Given the description of an element on the screen output the (x, y) to click on. 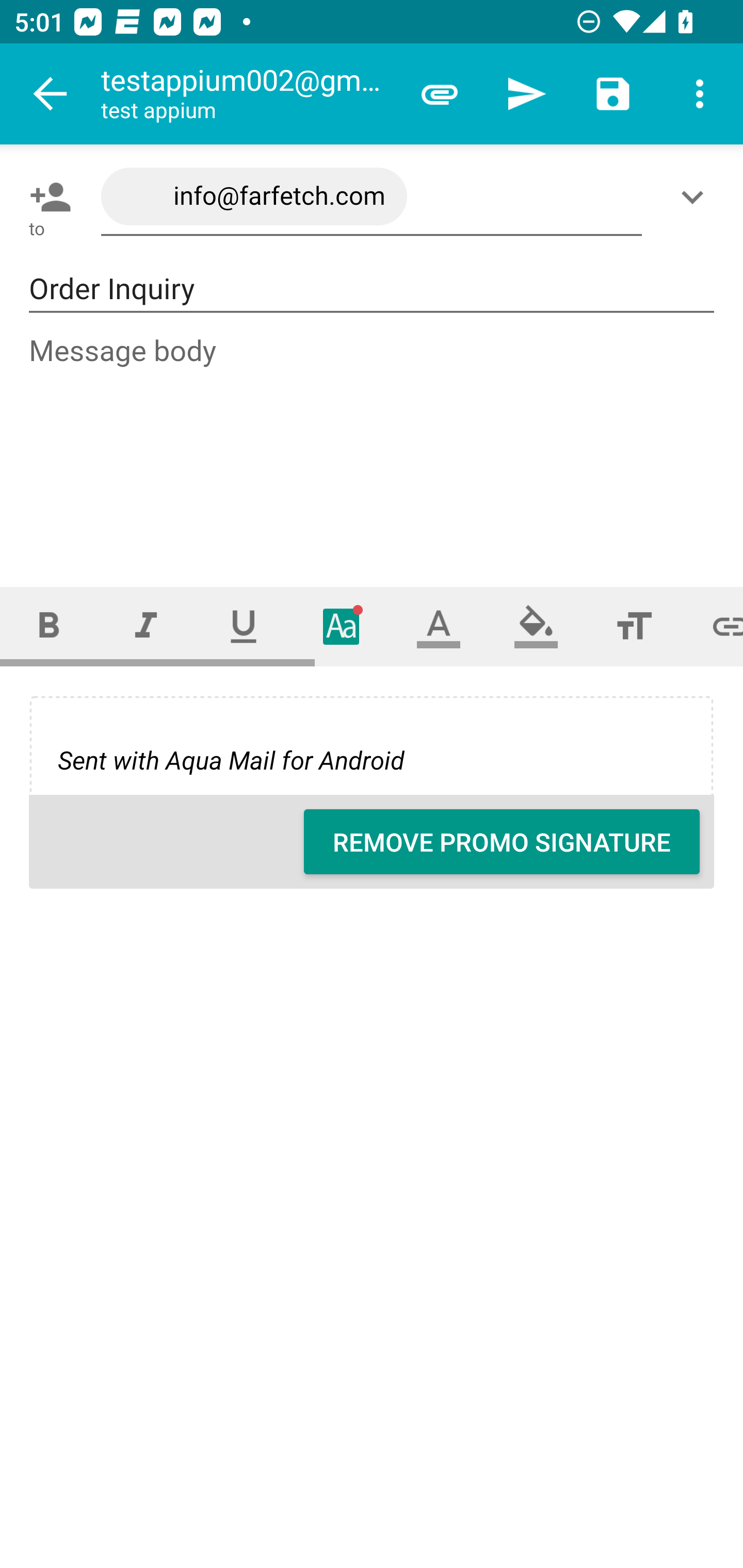
Navigate up (50, 93)
testappium002@gmail.com test appium (248, 93)
Attach (439, 93)
Send (525, 93)
Save (612, 93)
More options (699, 93)
info@farfetch.com,  (371, 197)
Pick contact: To (46, 196)
Show/Add CC/BCC (696, 196)
Order Inquiry (371, 288)
Message body (372, 442)
Bold (48, 626)
Italic (145, 626)
Underline (243, 626)
Typeface (font) (341, 626)
Text color (438, 626)
Fill color (536, 626)
Font size (633, 626)
Set link (712, 626)
REMOVE PROMO SIGNATURE (501, 841)
